Given the description of an element on the screen output the (x, y) to click on. 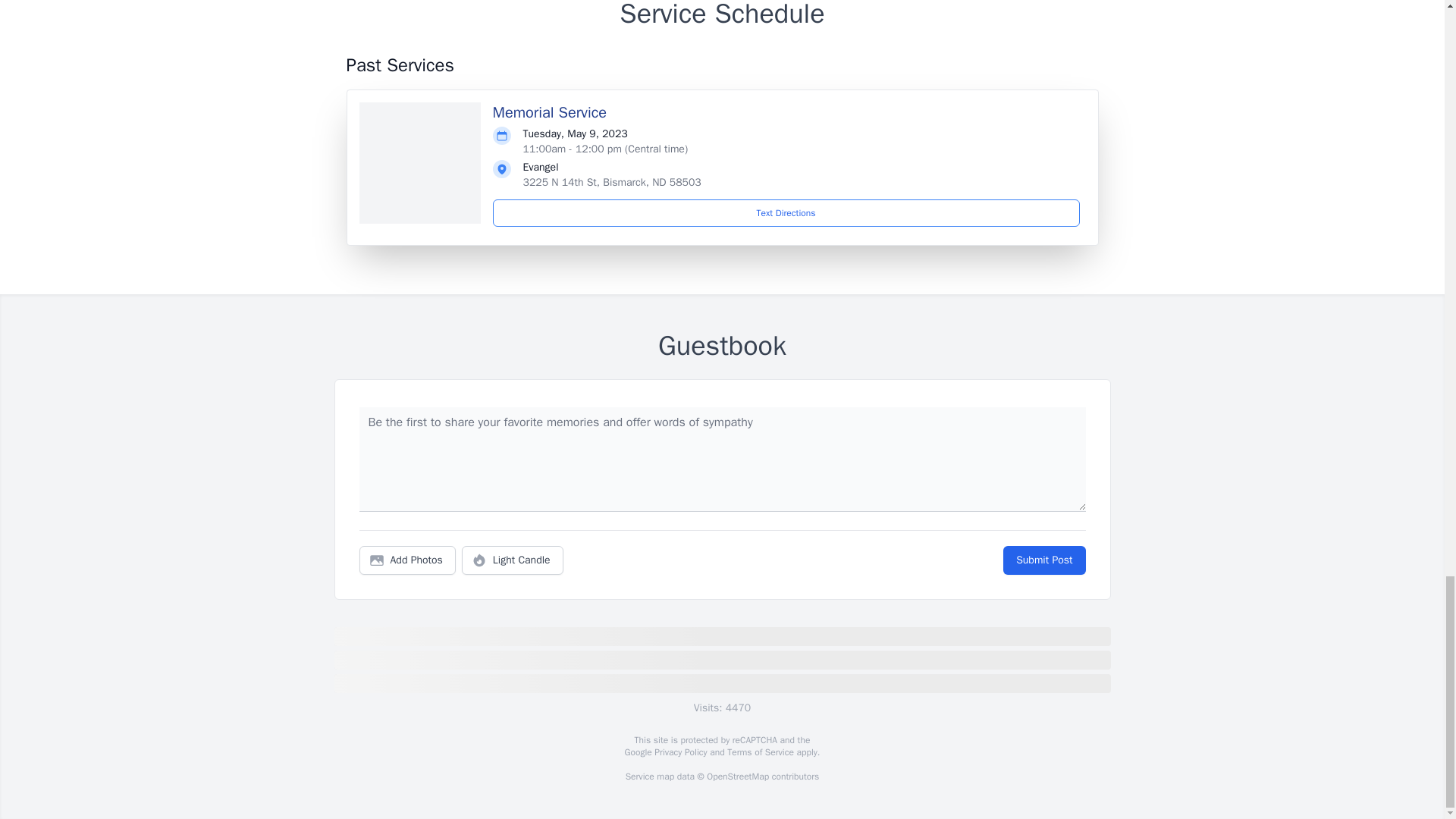
Light Candle (512, 560)
Privacy Policy (679, 752)
Terms of Service (759, 752)
Text Directions (786, 212)
3225 N 14th St, Bismarck, ND 58503 (611, 182)
Submit Post (1043, 560)
Add Photos (407, 560)
OpenStreetMap (737, 776)
